Given the description of an element on the screen output the (x, y) to click on. 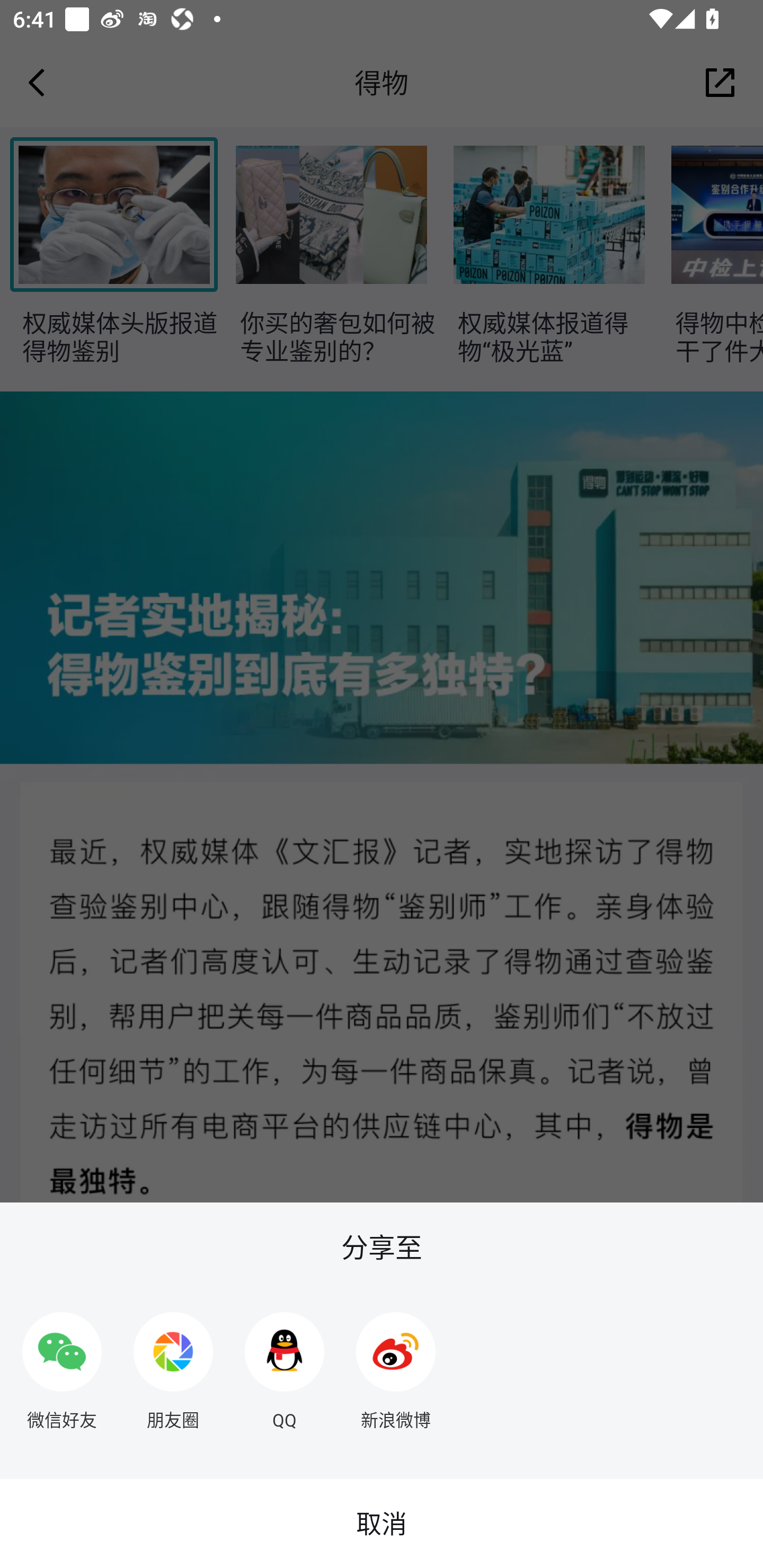
微信好友 (61, 1363)
朋友圈 (172, 1363)
QQ (284, 1363)
新浪微博 (395, 1363)
取消 (381, 1523)
